Given the description of an element on the screen output the (x, y) to click on. 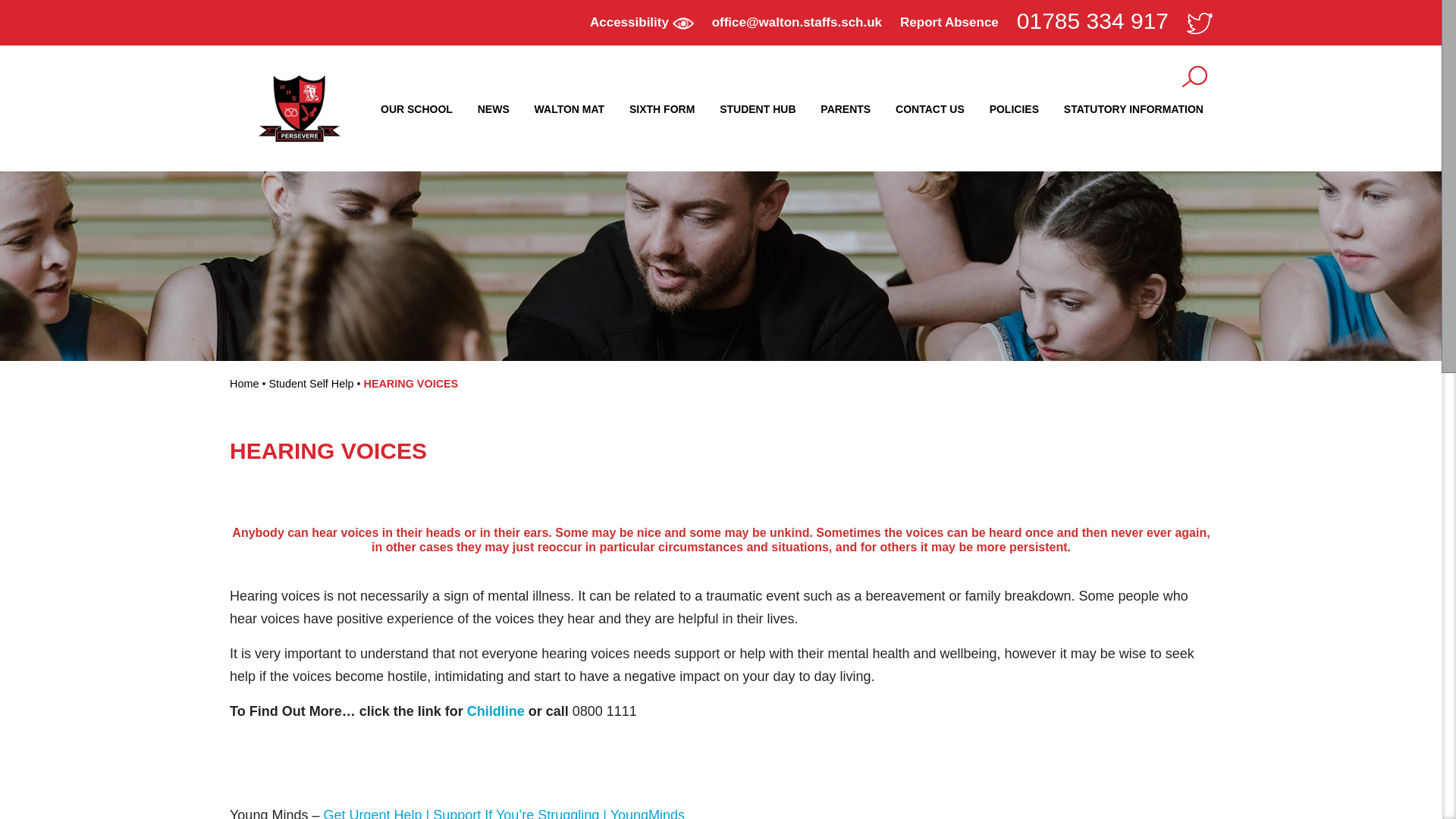
01785 334 917 (1092, 20)
NEWS (493, 109)
Accessibility (641, 22)
STUDENT HUB (756, 109)
WALTON MAT (569, 109)
SIXTH FORM (661, 109)
Report Absence (948, 22)
OUR SCHOOL (416, 109)
